Given the description of an element on the screen output the (x, y) to click on. 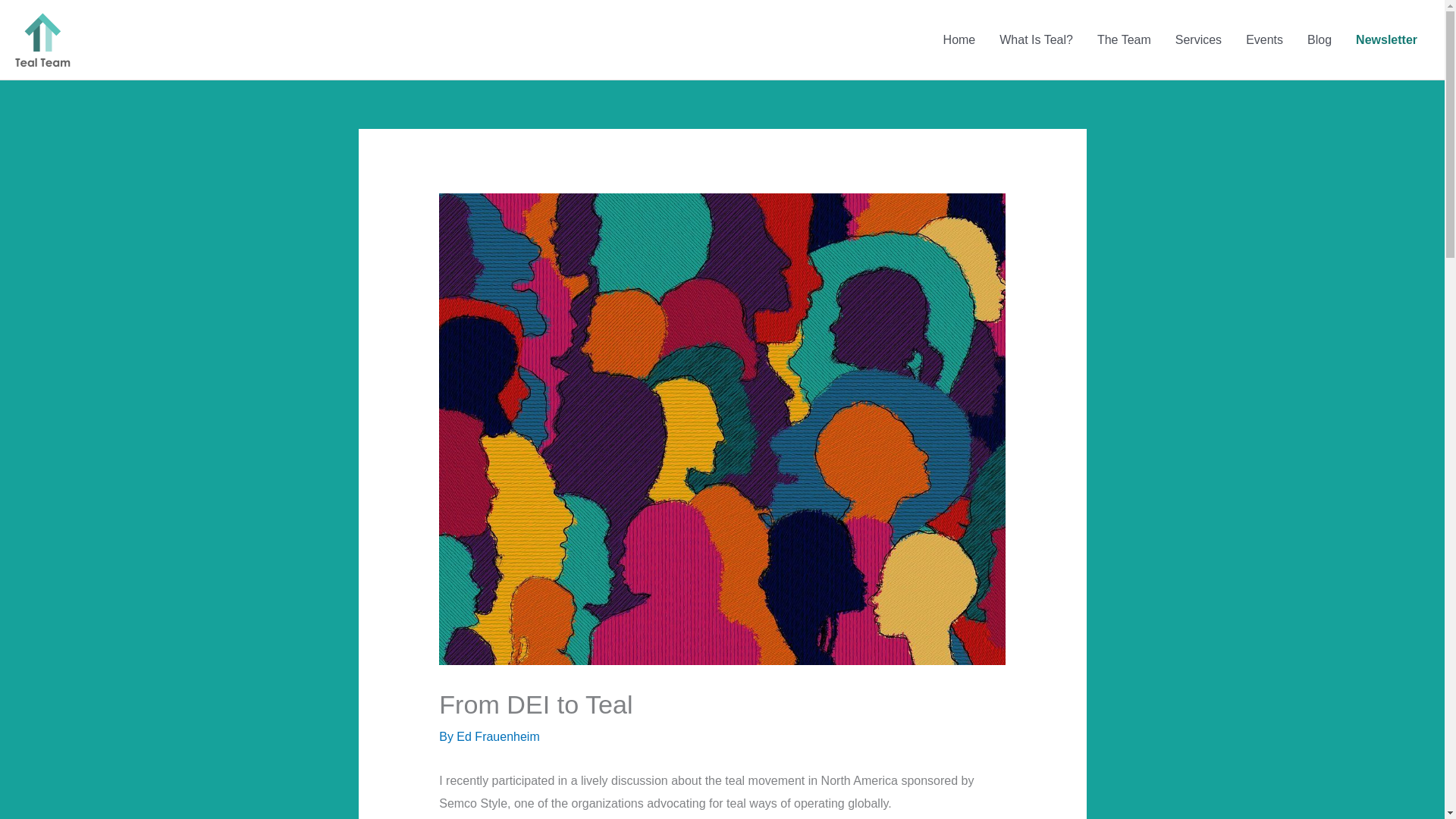
The Team (1123, 39)
What Is Teal? (1035, 39)
Newsletter (1386, 39)
Ed Frauenheim (497, 736)
View all posts by Ed Frauenheim (497, 736)
